Given the description of an element on the screen output the (x, y) to click on. 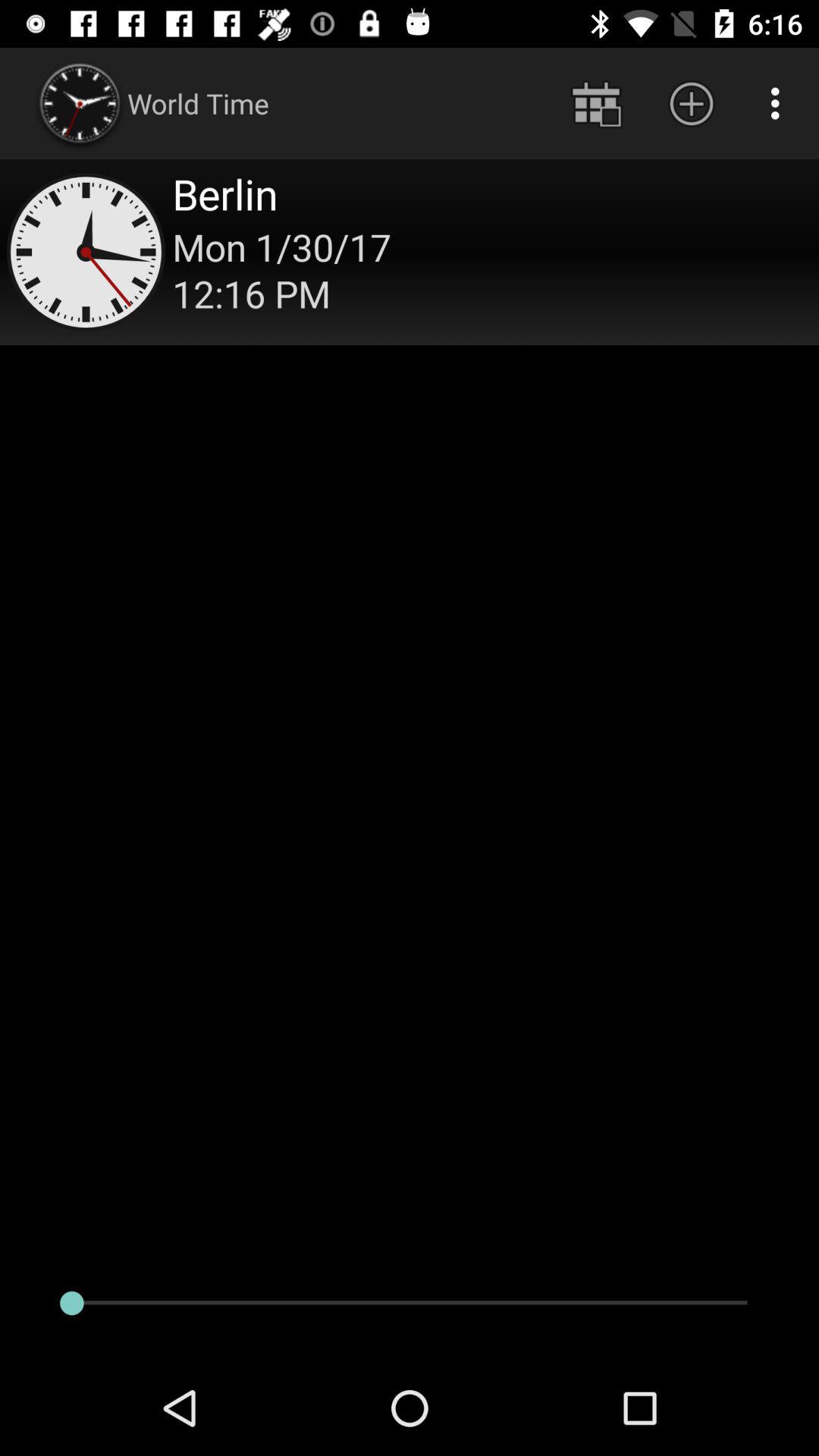
tap icon to the right of world time item (595, 103)
